Given the description of an element on the screen output the (x, y) to click on. 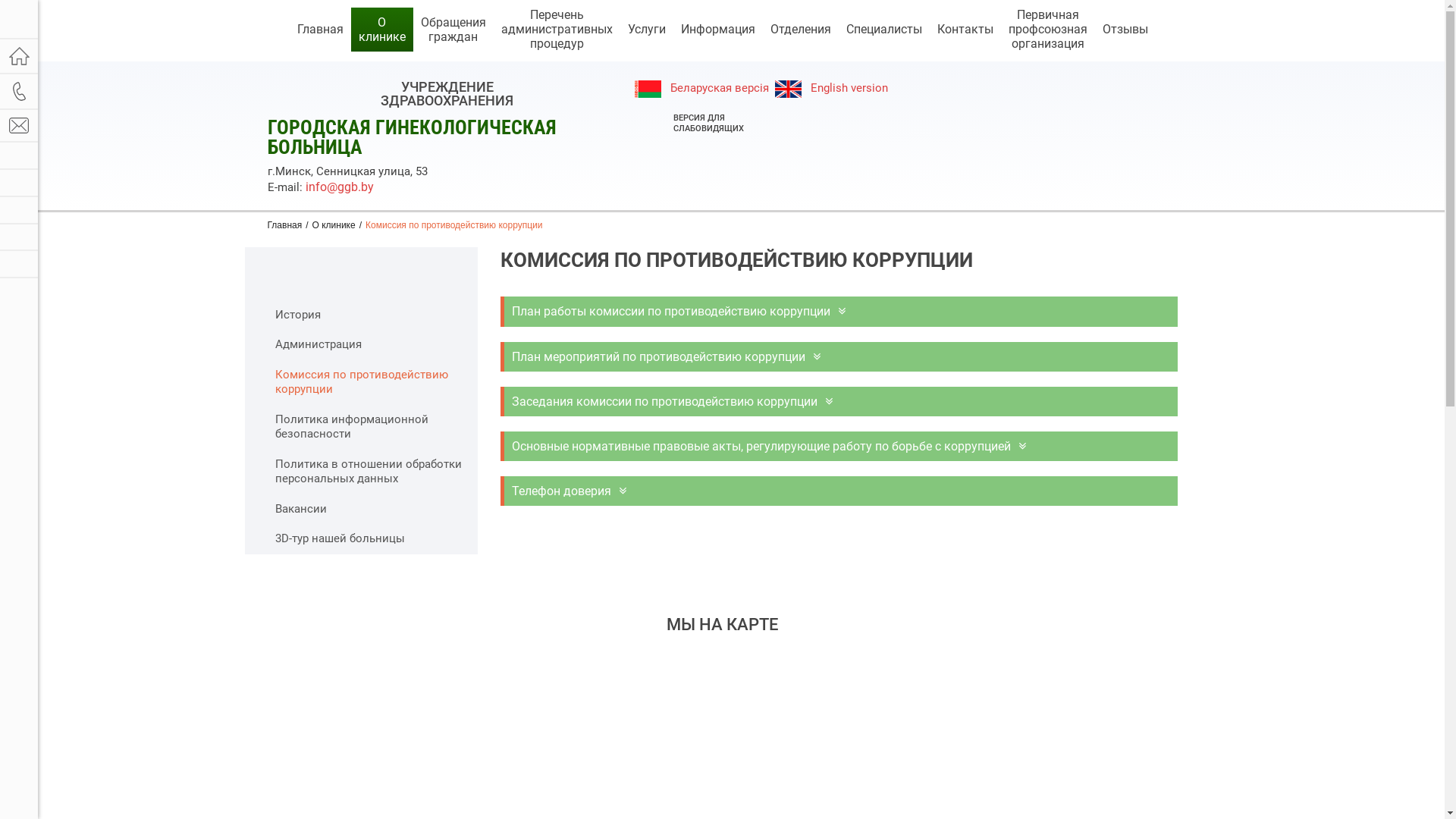
info@ggb.by Element type: text (338, 186)
   English version Element type: text (831, 87)
